Given the description of an element on the screen output the (x, y) to click on. 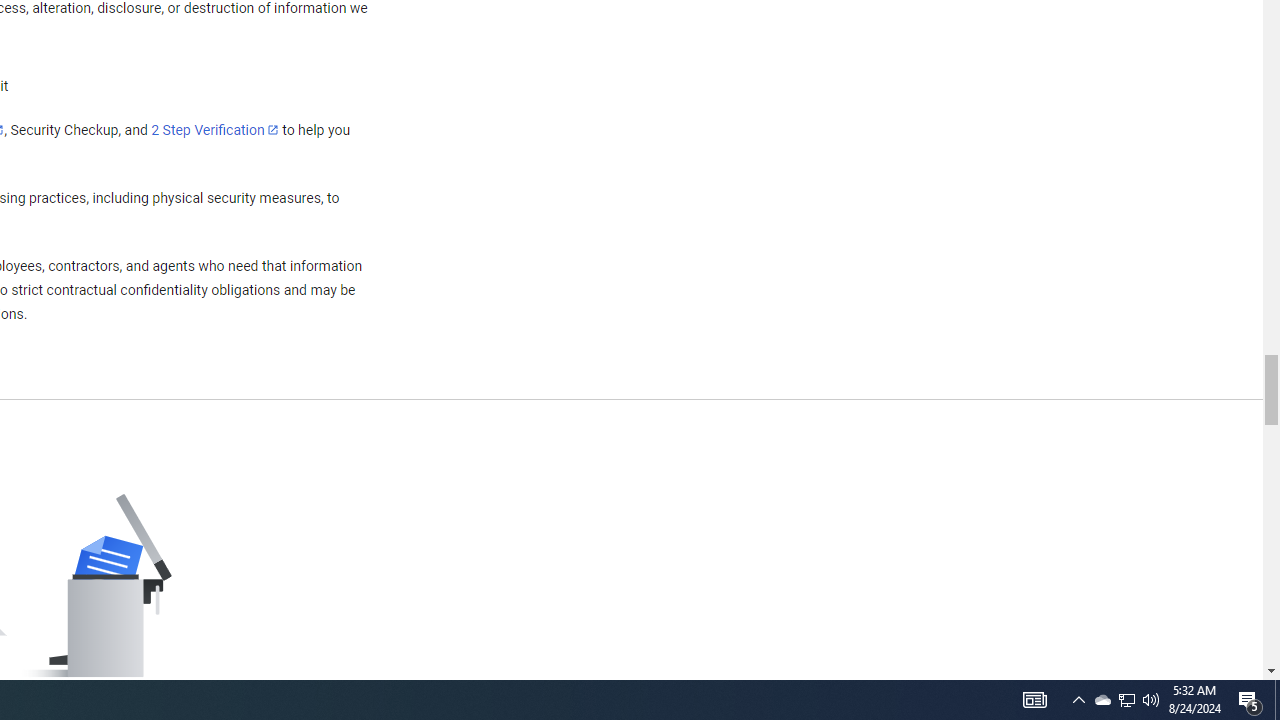
2 Step Verification (215, 129)
